Given the description of an element on the screen output the (x, y) to click on. 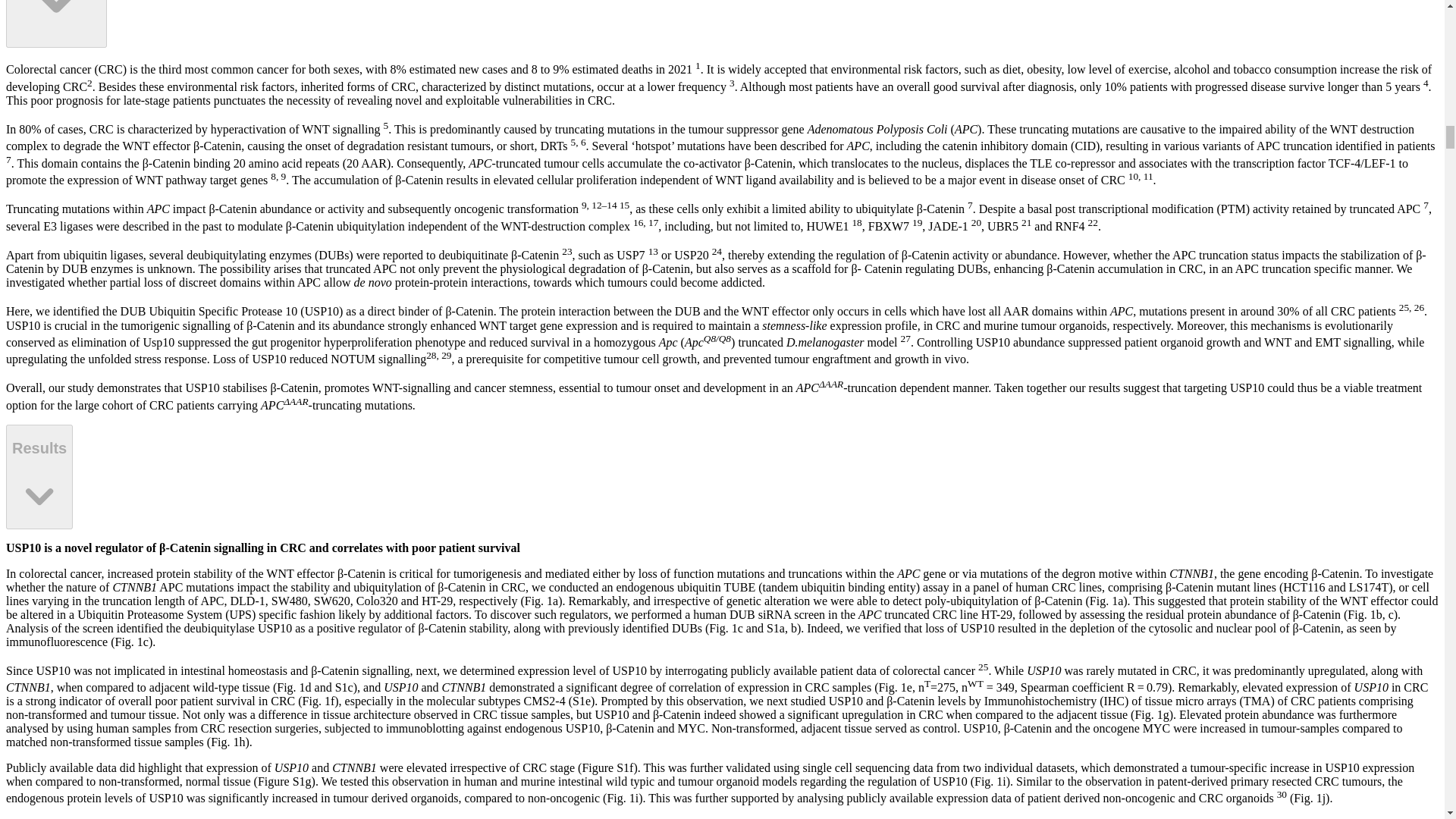
Results (38, 476)
Introduction (55, 24)
